Given the description of an element on the screen output the (x, y) to click on. 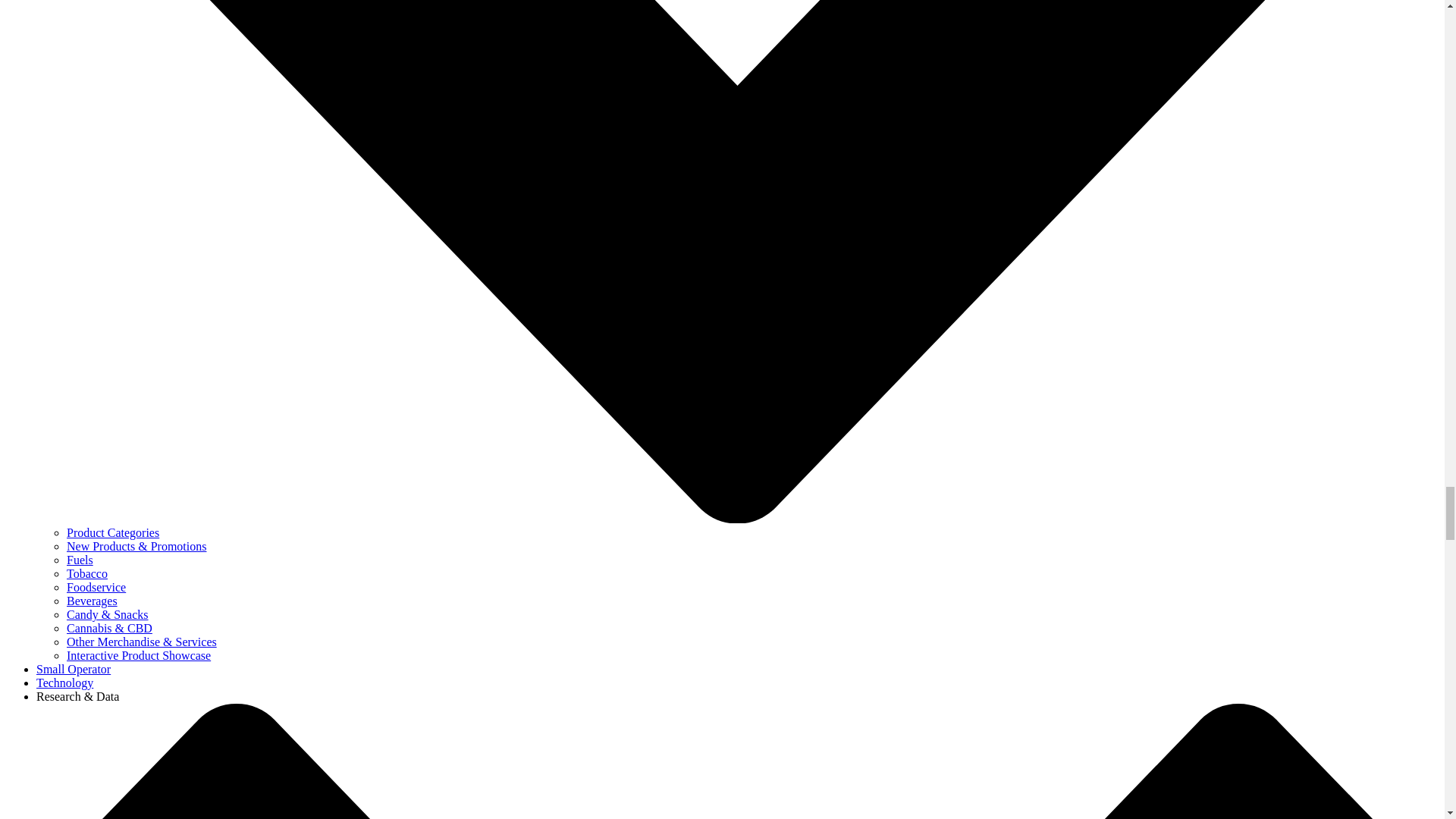
Fuels (79, 559)
Beverages (91, 600)
Product Categories (112, 532)
Interactive Product Showcase (138, 655)
Technology (64, 682)
Tobacco (86, 573)
Small Operator (73, 668)
Foodservice (95, 586)
